Given the description of an element on the screen output the (x, y) to click on. 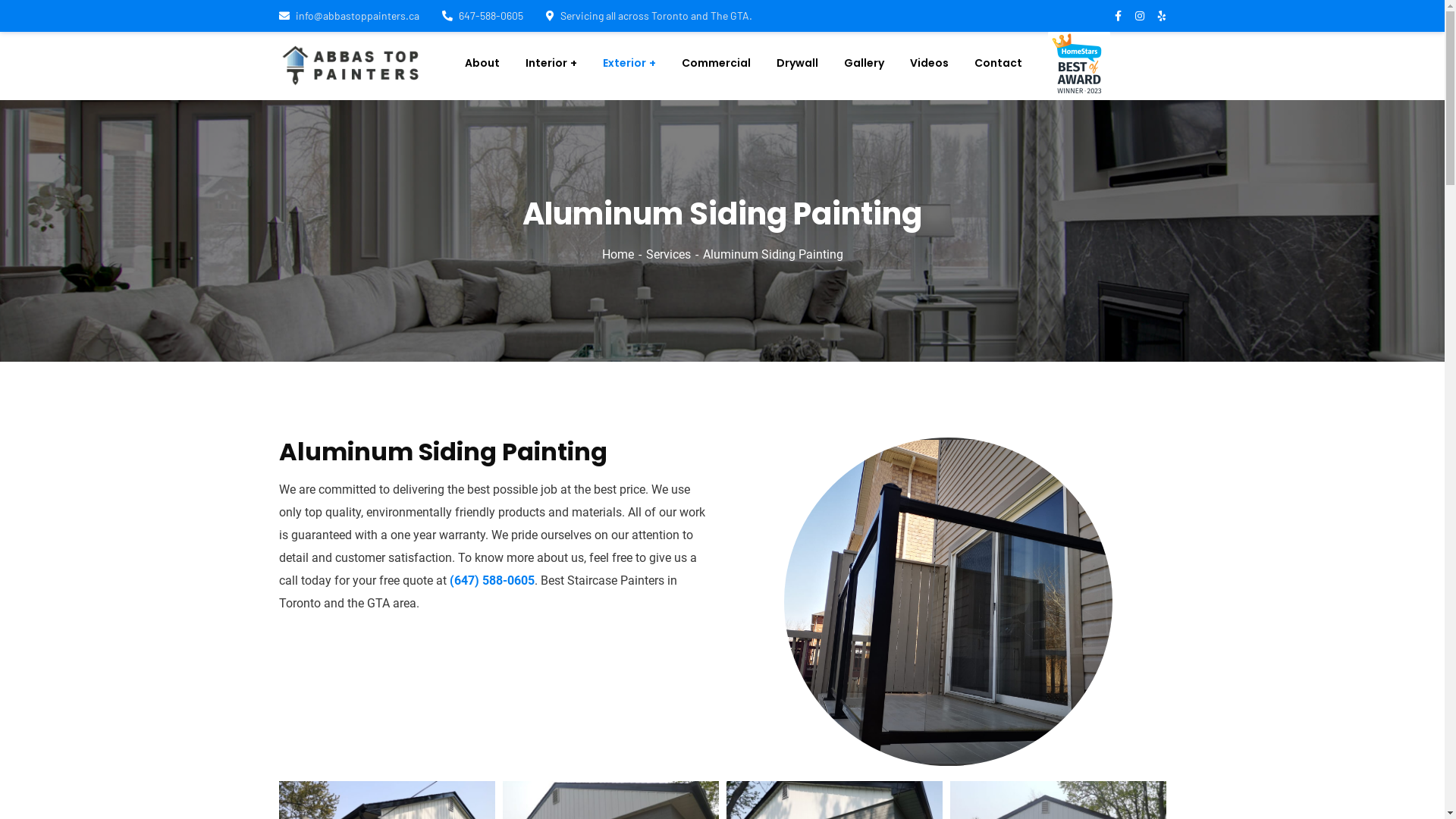
Abbas Top Painters Element type: hover (351, 64)
Videos Element type: text (929, 62)
Servicing all across Toronto and The GTA. Element type: text (649, 15)
Services Element type: text (674, 254)
Gallery Element type: text (864, 62)
Home Element type: text (624, 254)
647-588-0605 Element type: text (481, 15)
About Element type: text (481, 62)
Contact Element type: text (998, 62)
Exterior Element type: text (628, 62)
Interior Element type: text (551, 62)
Commercial Element type: text (715, 62)
Drywall Element type: text (797, 62)
info@abbastoppainters.ca Element type: text (349, 15)
(647) 588-0605 Element type: text (490, 580)
